Given the description of an element on the screen output the (x, y) to click on. 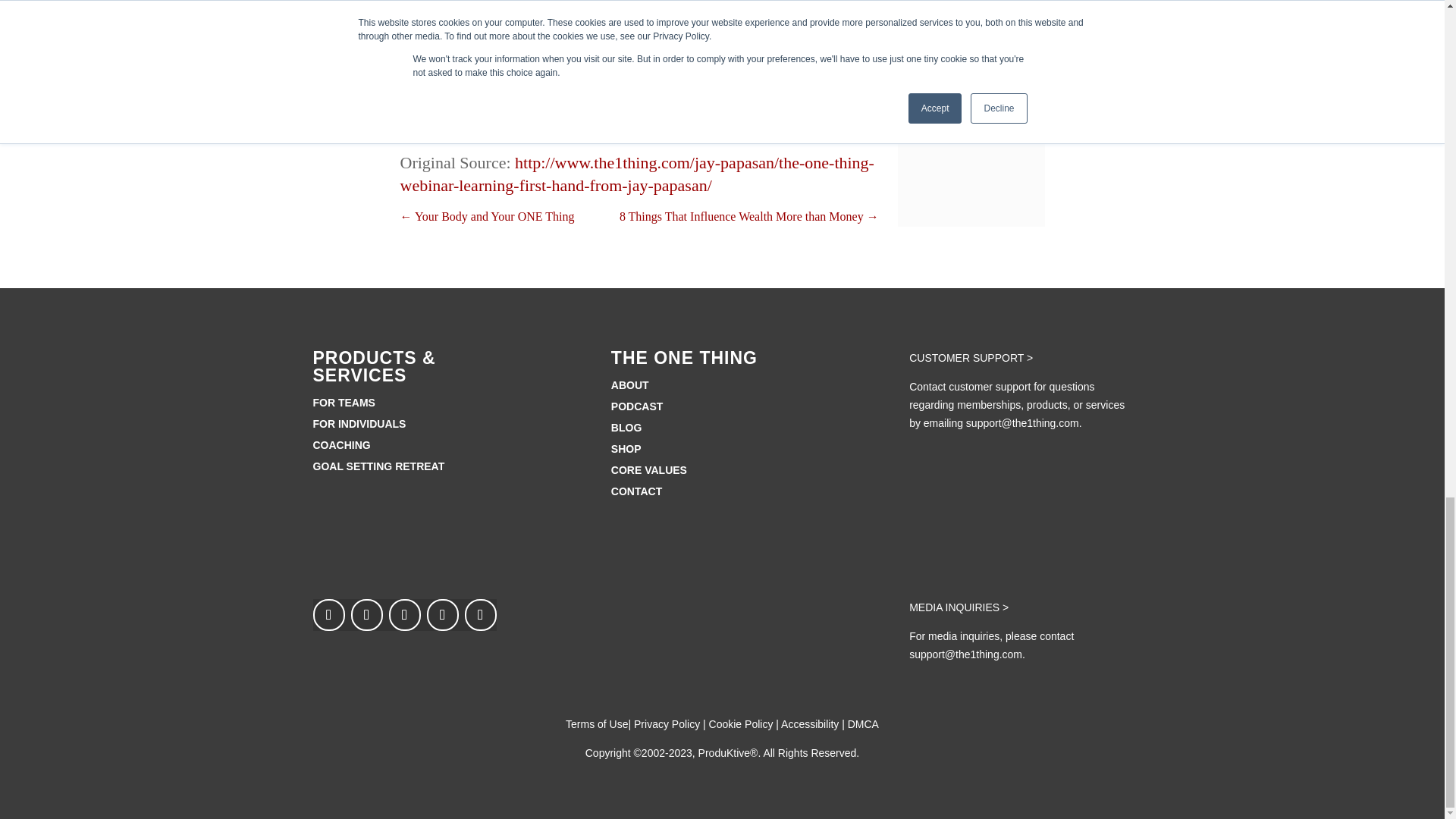
Follow on Podcast (328, 614)
Follow on Instagram (365, 614)
COACHING (341, 444)
Follow on X (442, 614)
Sign up (425, 15)
FOR INDIVIDUALS (359, 423)
Follow on LinkedIn (480, 614)
FOR TEAMS (343, 402)
Follow on Facebook (404, 614)
